Given the description of an element on the screen output the (x, y) to click on. 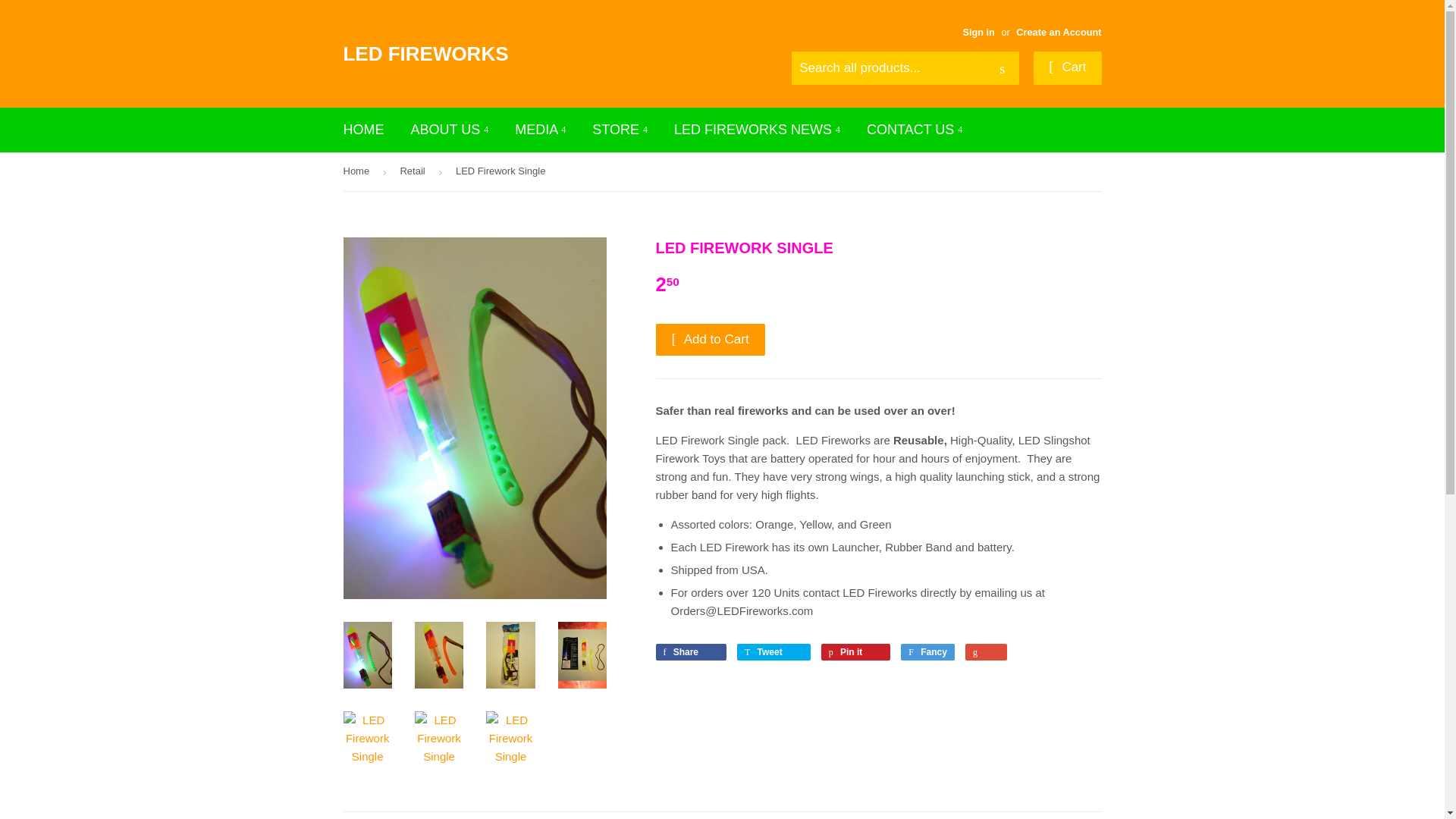
Tweet (773, 651)
Share (690, 651)
Fancy (928, 651)
ABOUT US (449, 129)
STORE (619, 129)
Search (1002, 69)
CONTACT US (915, 129)
LED FIREWORKS NEWS (756, 129)
Pin it (855, 651)
Cart (1066, 68)
